Given the description of an element on the screen output the (x, y) to click on. 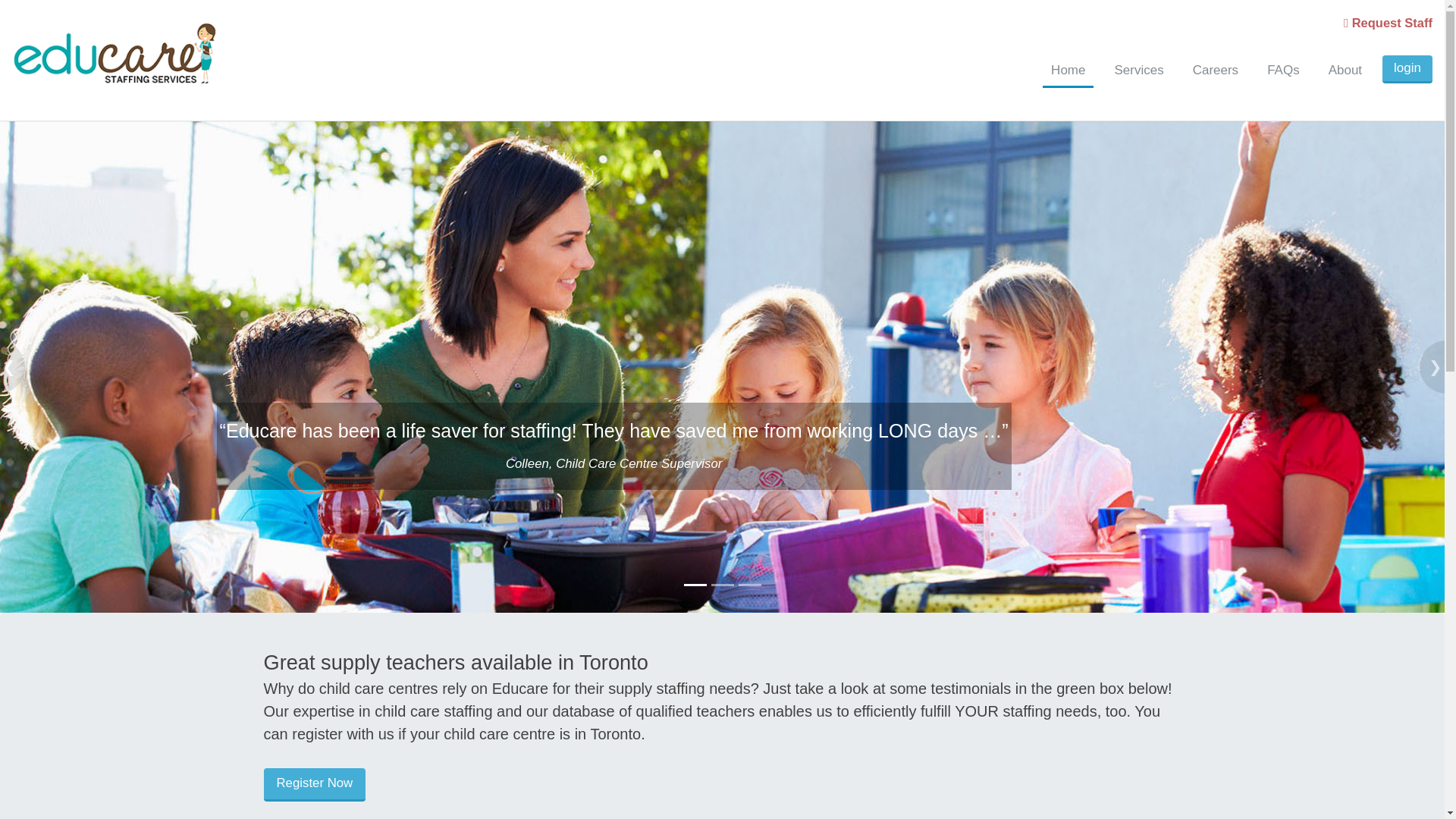
Services (1138, 70)
FAQs (1283, 70)
Home (1067, 71)
Request Staff (1387, 22)
About (1345, 70)
Register Now (314, 784)
Careers (1215, 70)
login (1406, 69)
